Given the description of an element on the screen output the (x, y) to click on. 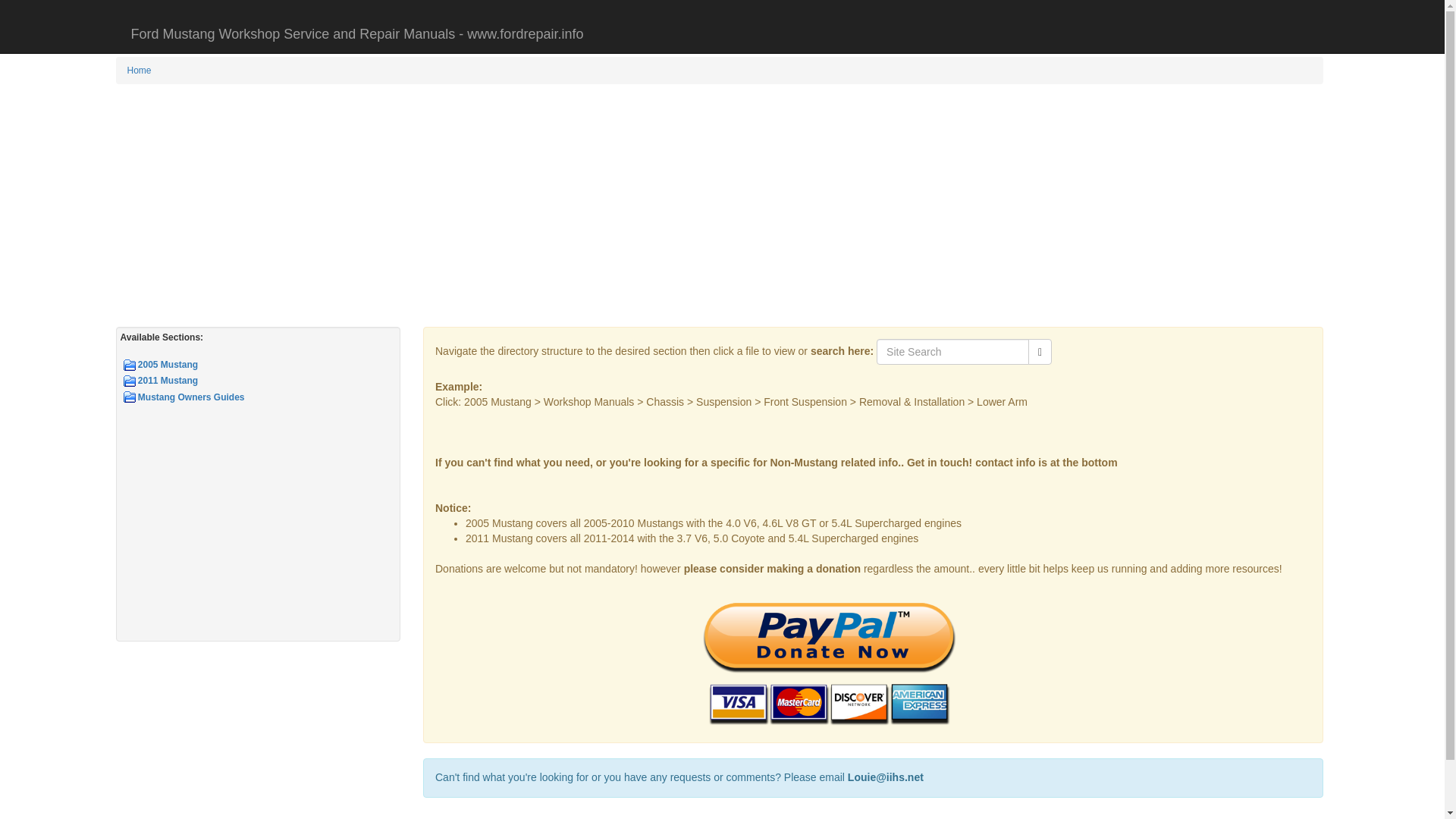
Home (139, 70)
Mustang Owners Guides (265, 397)
2011 Mustang (265, 381)
Advertisement (257, 531)
Home (139, 70)
2005 Mustang (265, 365)
